Given the description of an element on the screen output the (x, y) to click on. 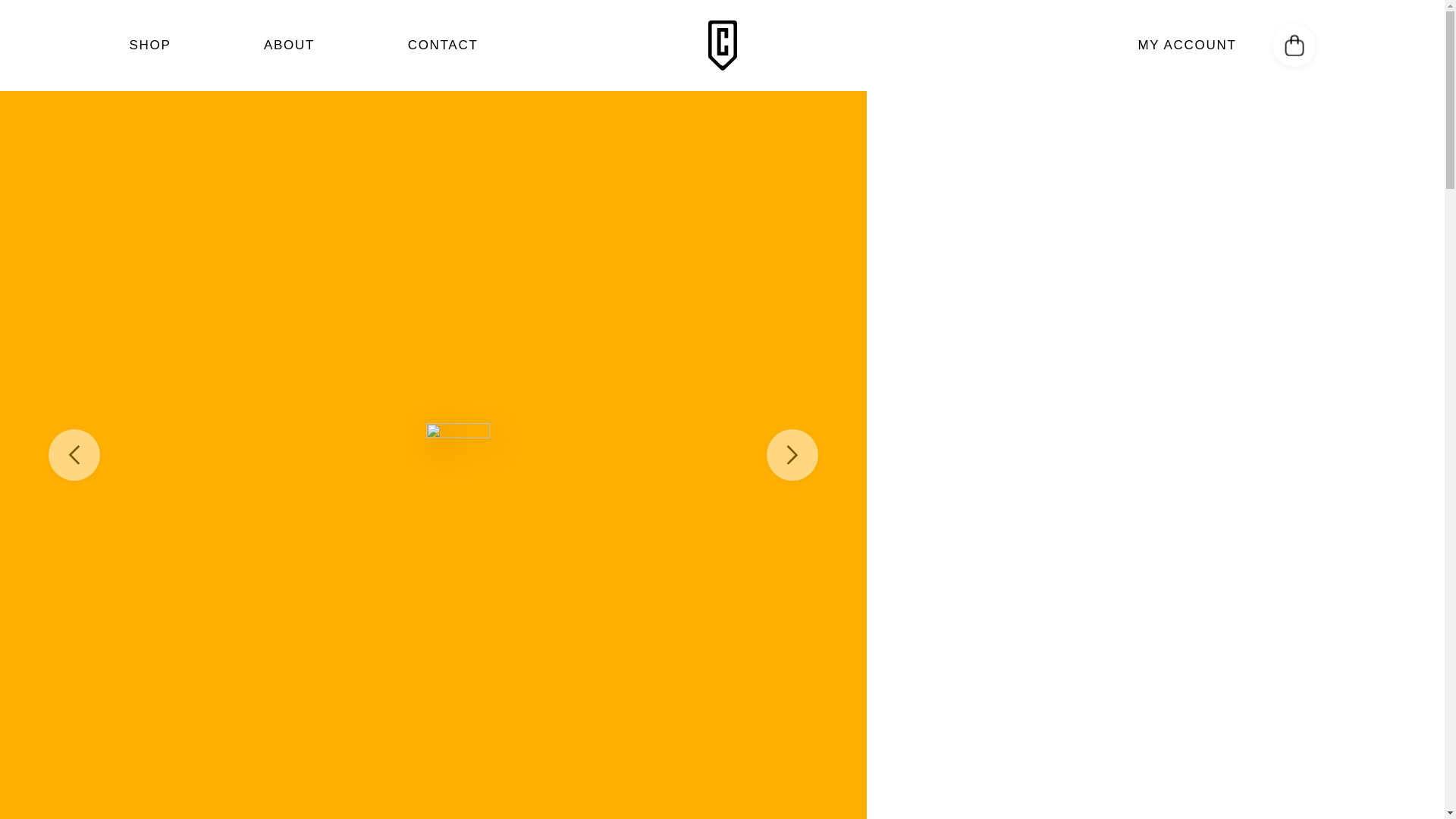
MY ACCOUNT (1186, 45)
114 (1053, 740)
SHOP (149, 44)
View Basket (1293, 45)
CONTACT (443, 44)
Previous image (74, 454)
Previous image (792, 454)
ABOUT (288, 44)
